Given the description of an element on the screen output the (x, y) to click on. 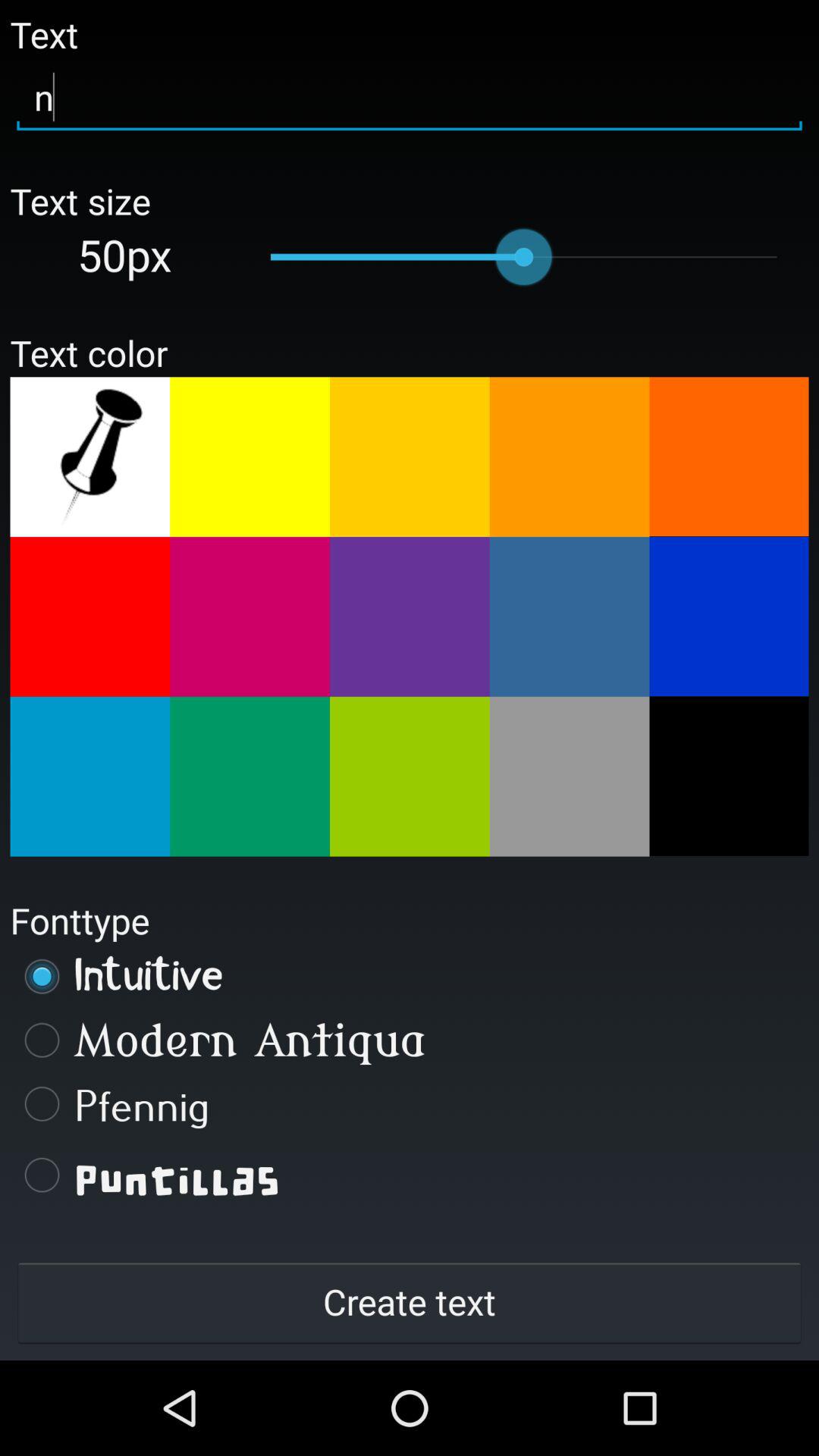
select cyan for text color (90, 776)
